Given the description of an element on the screen output the (x, y) to click on. 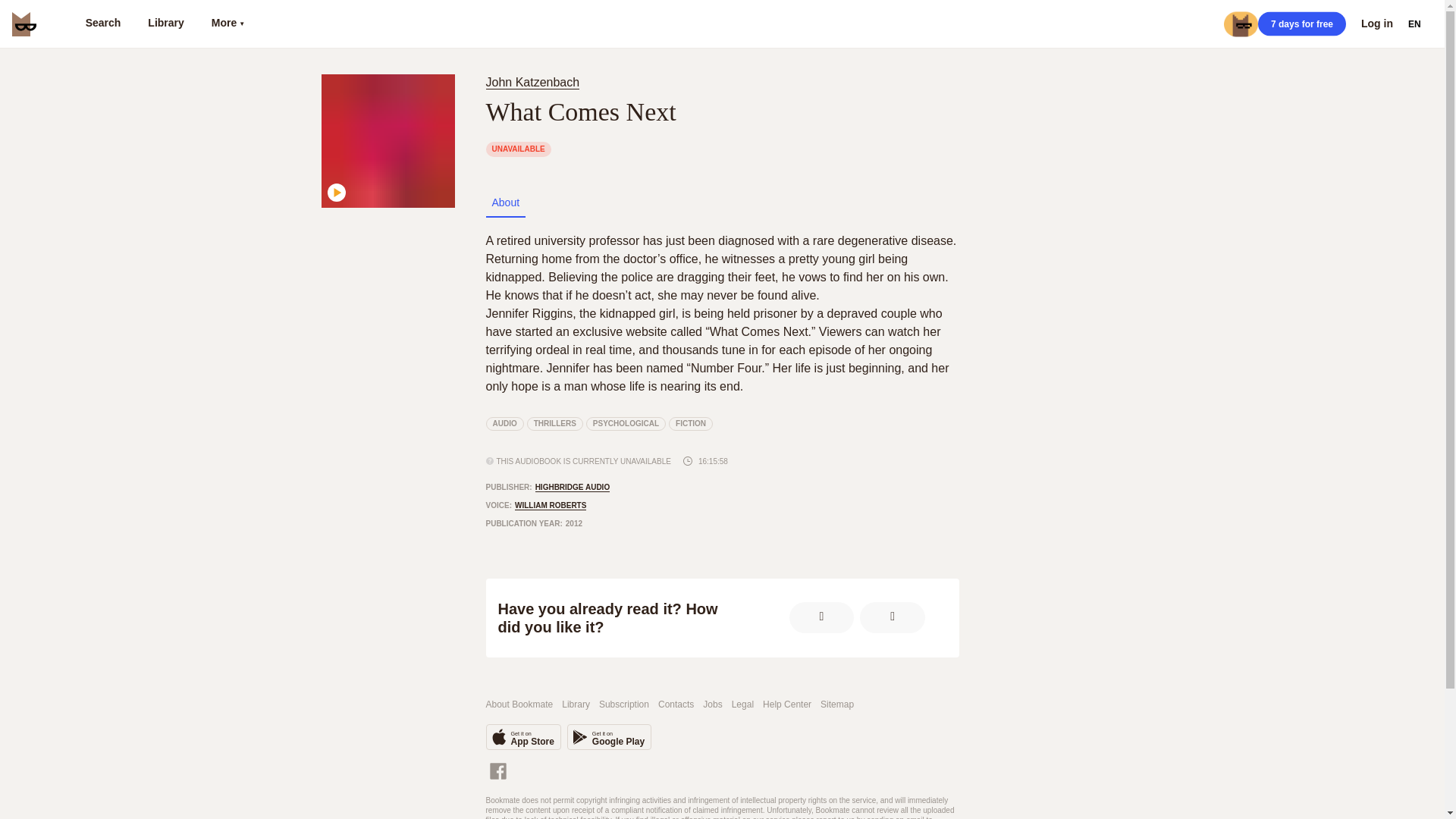
Legal (743, 704)
WILLIAM ROBERTS (550, 505)
John Katzenbach (534, 82)
PSYCHOLOGICAL (625, 423)
HIGHBRIDGE AUDIO (572, 487)
FICTION (690, 423)
Jobs (712, 704)
About (504, 202)
Help Center (786, 704)
THRILLERS (555, 423)
Subscription (522, 736)
Sitemap (623, 704)
About Bookmate (837, 704)
